Given the description of an element on the screen output the (x, y) to click on. 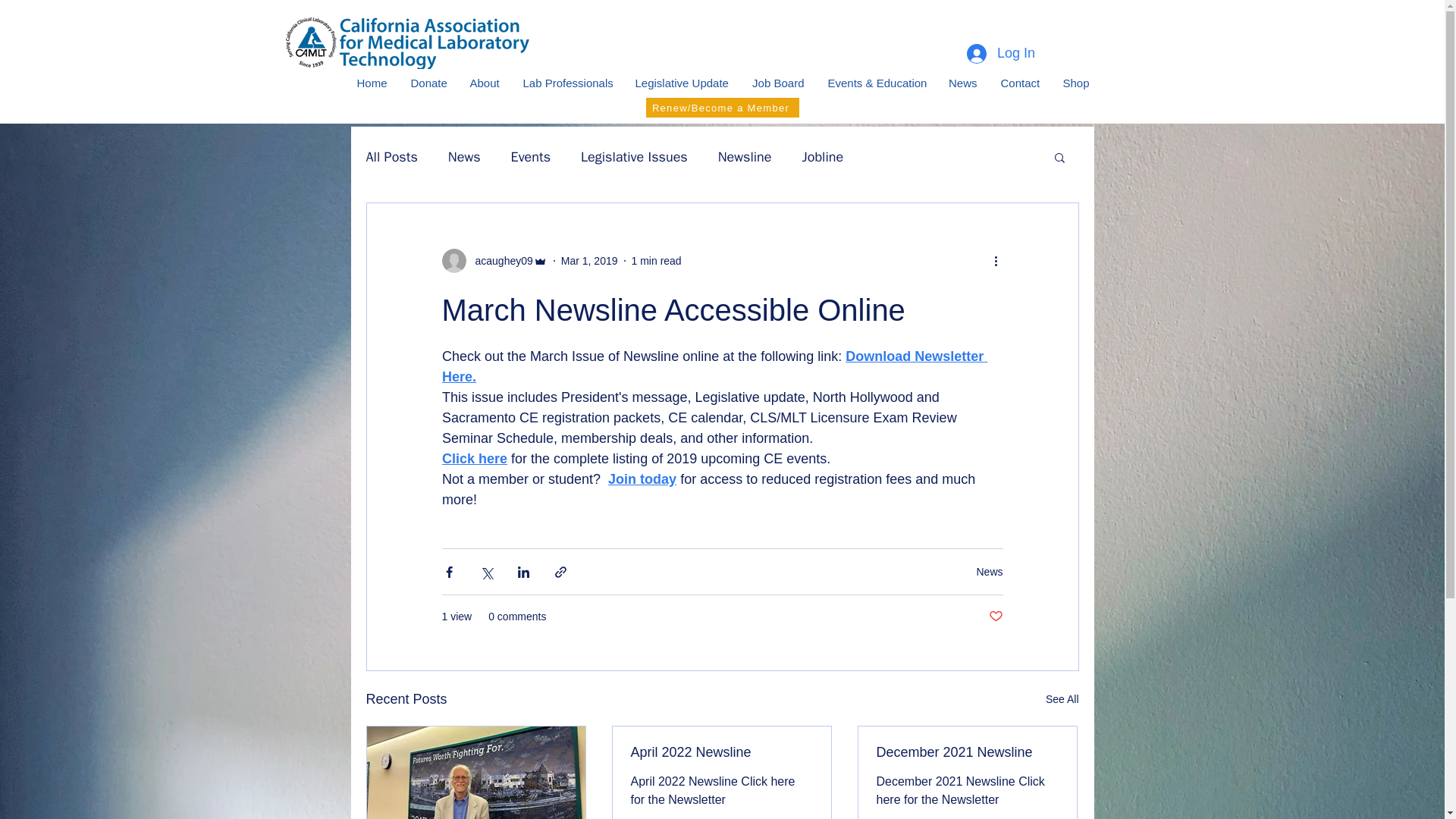
Log In (996, 53)
1 min read (656, 260)
acaughey09 (494, 260)
Home (370, 83)
Contact (1019, 83)
Shop (1075, 83)
Lab Professionals (567, 83)
Click here (473, 458)
News (962, 83)
Events (531, 157)
